Given the description of an element on the screen output the (x, y) to click on. 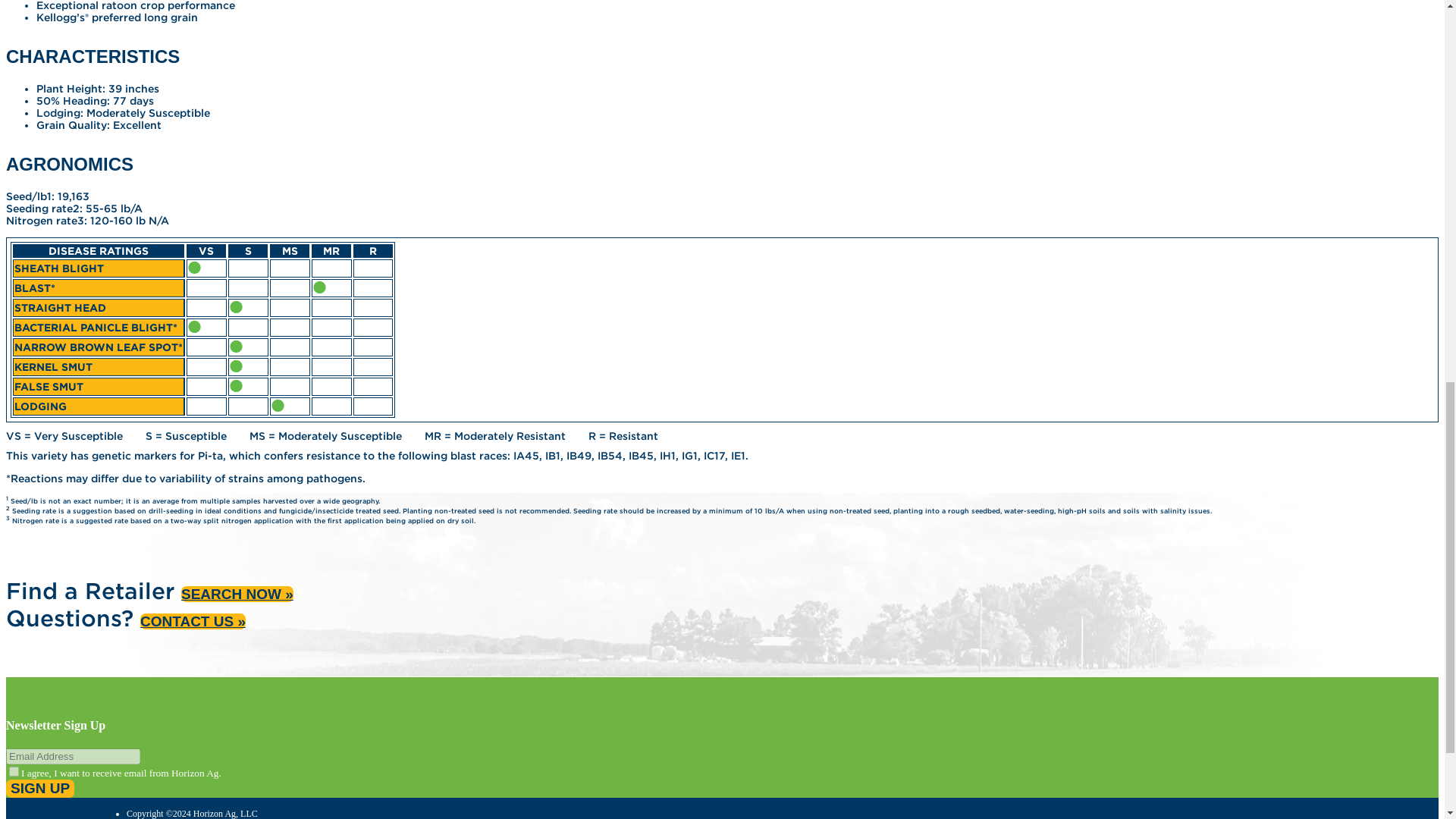
Sign Up (39, 788)
on (13, 771)
